Given the description of an element on the screen output the (x, y) to click on. 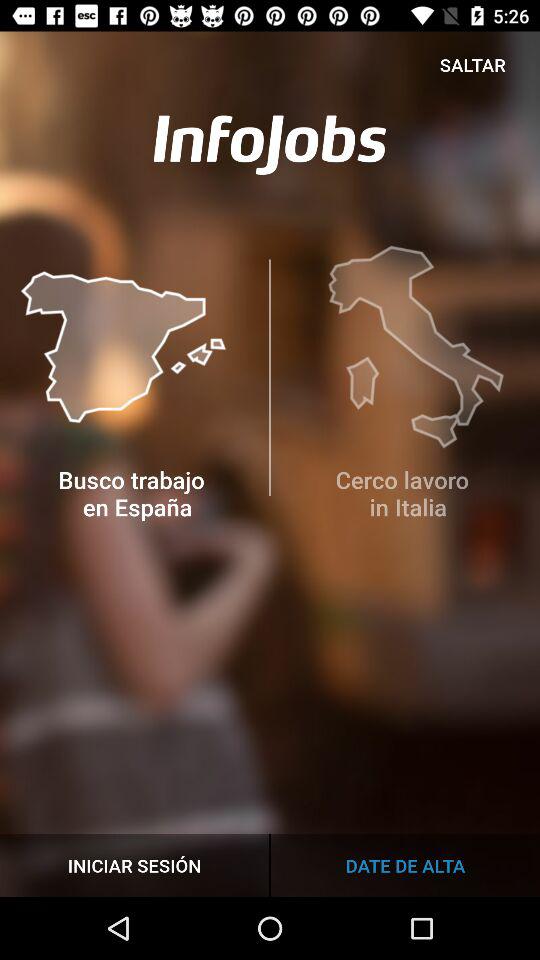
select item at the top right corner (472, 64)
